Given the description of an element on the screen output the (x, y) to click on. 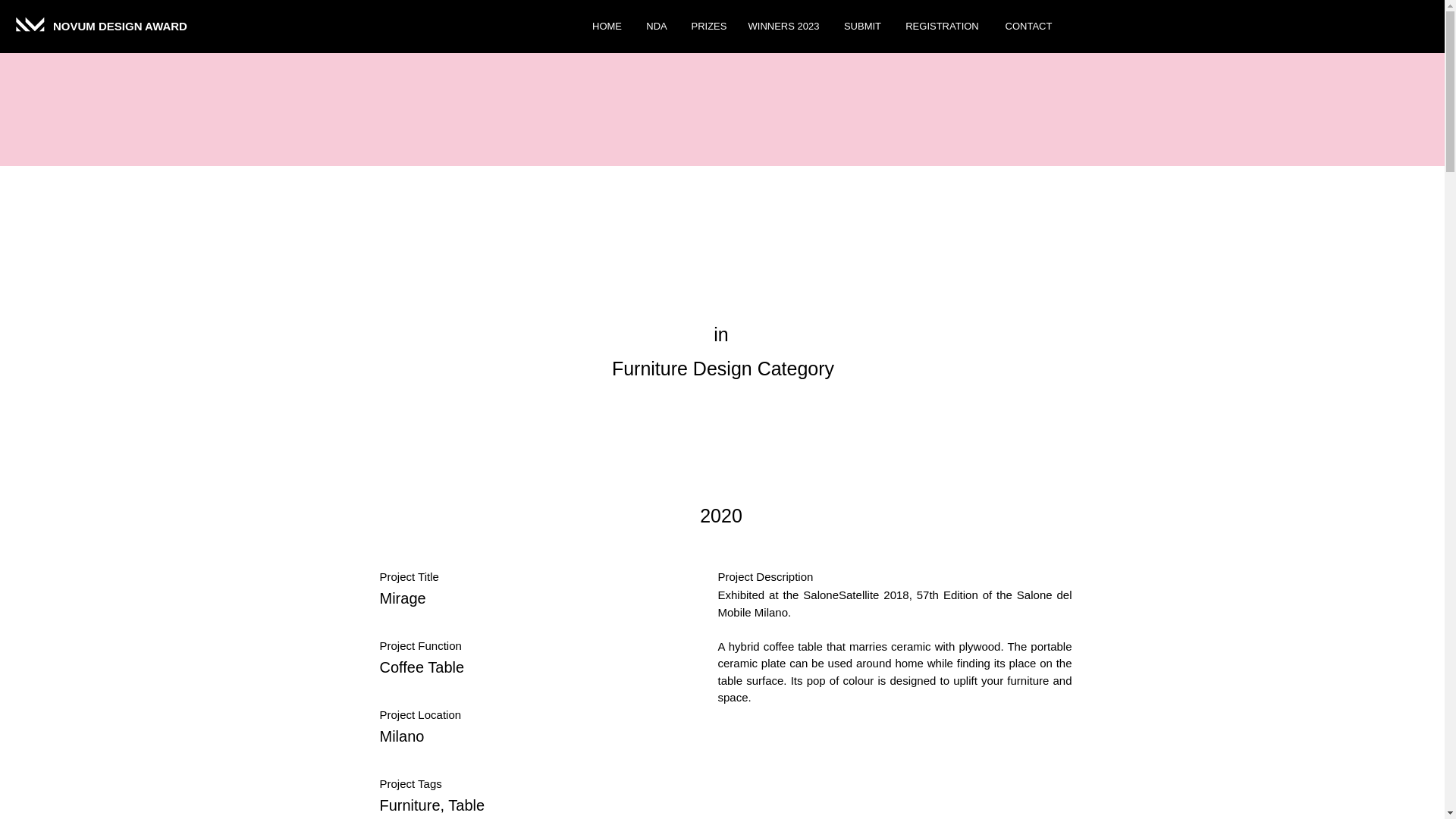
SUBMIT (861, 26)
WINNERS 2023 (783, 26)
HOME (606, 26)
CONTACT (1027, 26)
PRIZES (707, 26)
REGISTRATION (942, 26)
NOVUM DESIGN AWARD (120, 26)
